Given the description of an element on the screen output the (x, y) to click on. 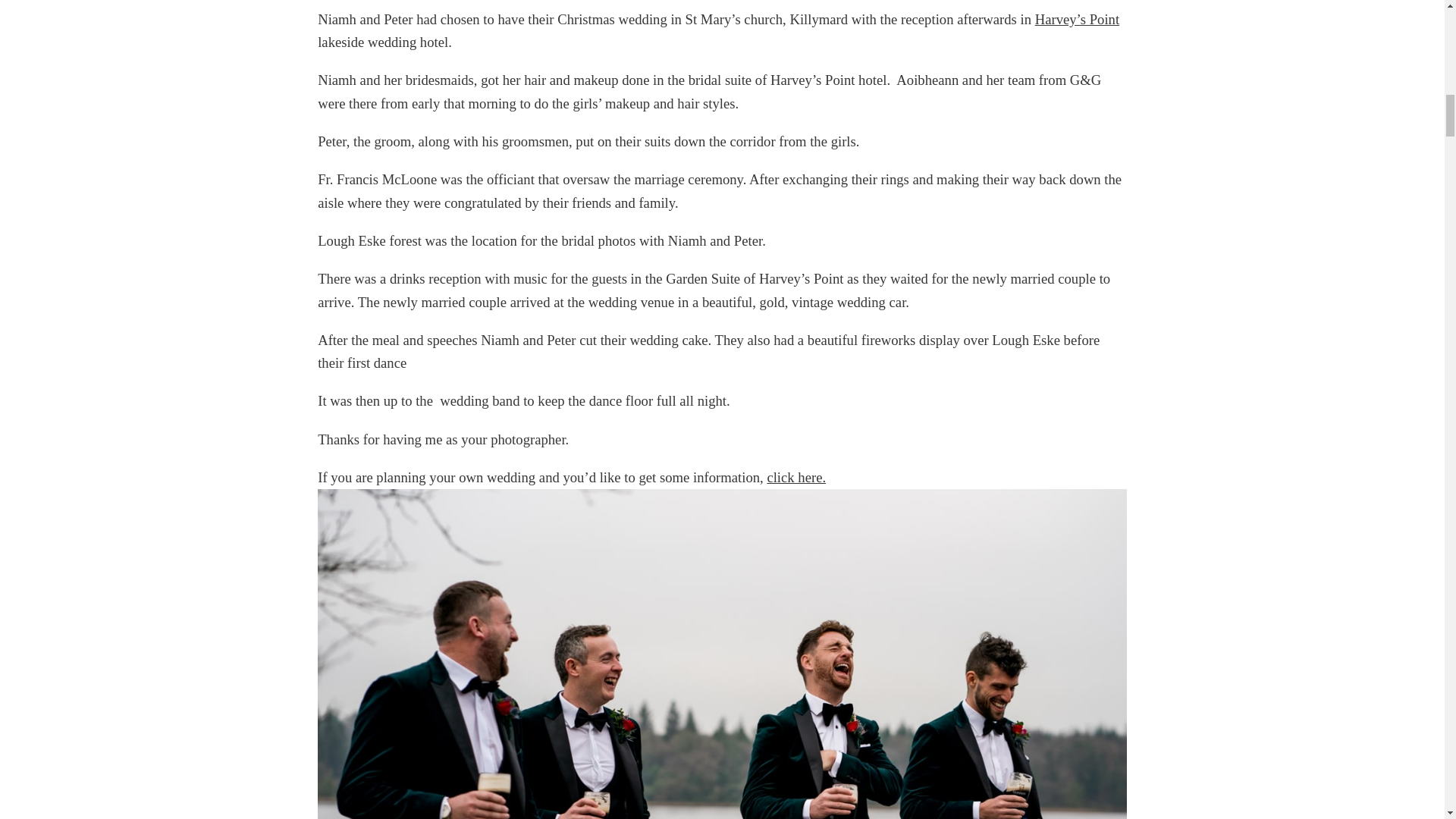
click here. (796, 477)
